Given the description of an element on the screen output the (x, y) to click on. 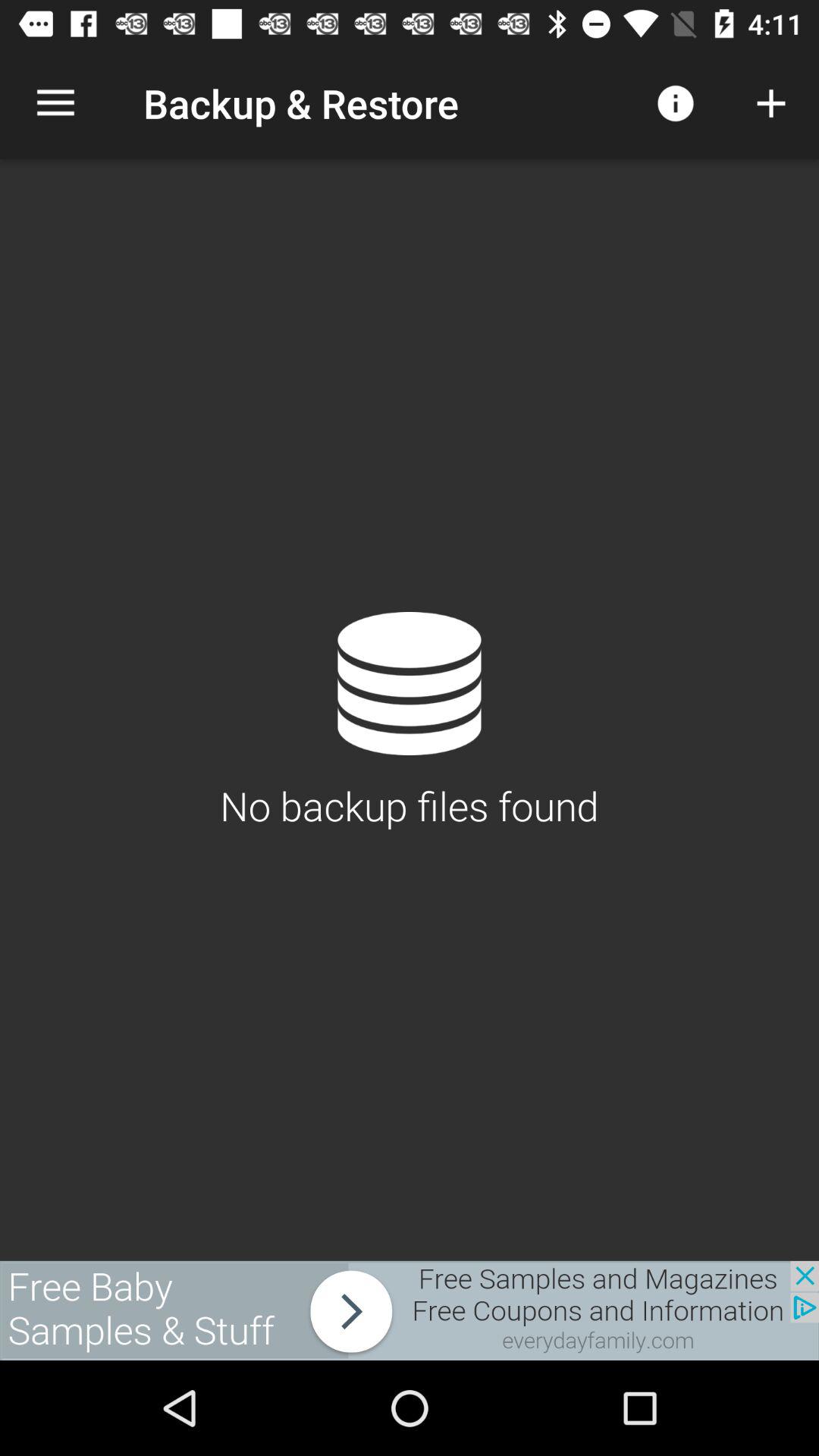
view everydayfamily.com site (409, 1310)
